Given the description of an element on the screen output the (x, y) to click on. 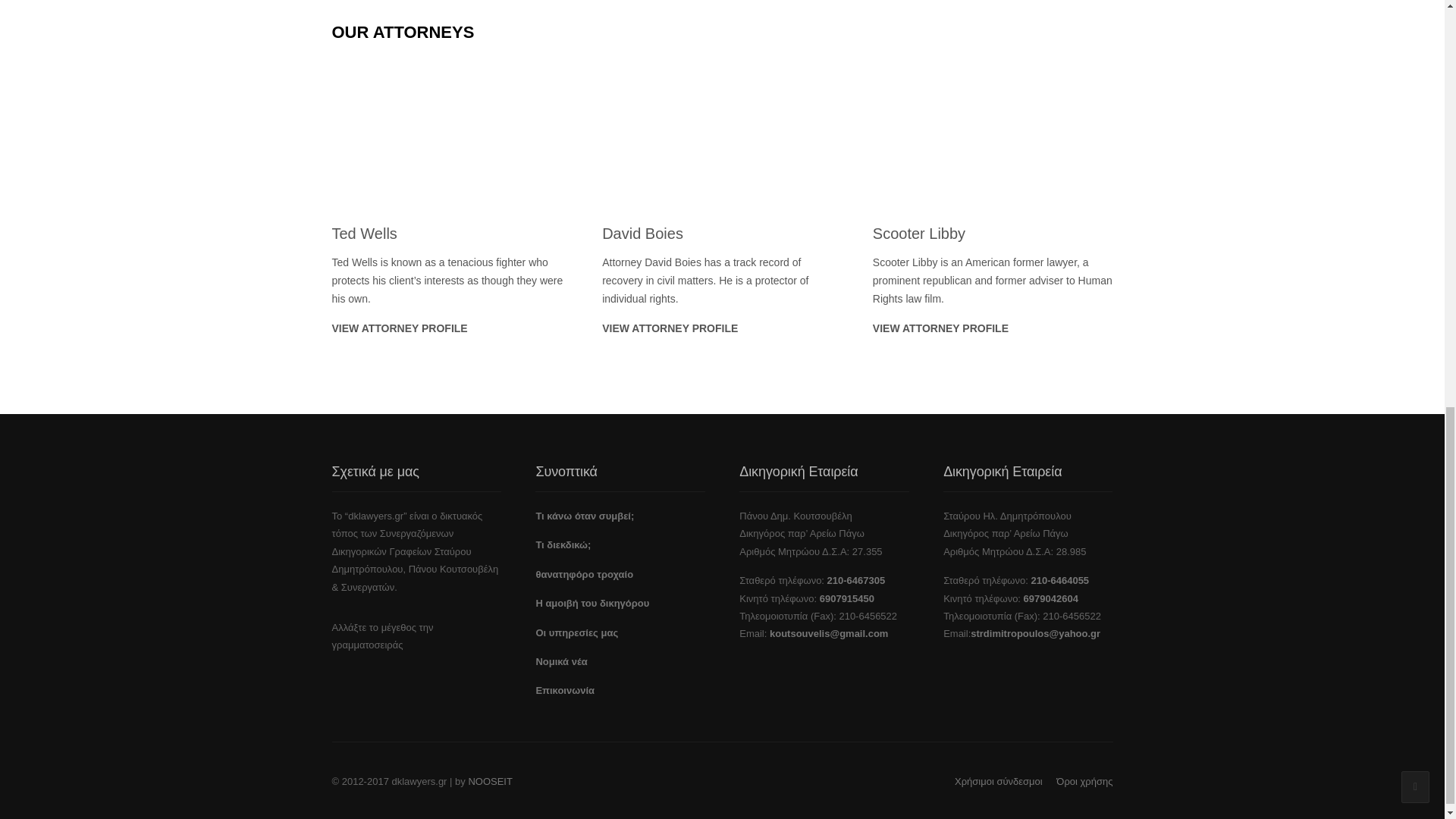
Ted Wells (364, 233)
210-6467305 (856, 580)
David Boies (642, 233)
VIEW ATTORNEY PROFILE (399, 328)
Ted Wells (451, 132)
David Boies (722, 132)
Scooter Libby (992, 132)
VIEW ATTORNEY PROFILE (940, 328)
VIEW ATTORNEY PROFILE (670, 328)
David Boies (670, 328)
Ted Wells (399, 328)
6979042604 (1050, 598)
6907915450 (847, 598)
Scooter Libby (918, 233)
210-6464055 (1059, 580)
